Given the description of an element on the screen output the (x, y) to click on. 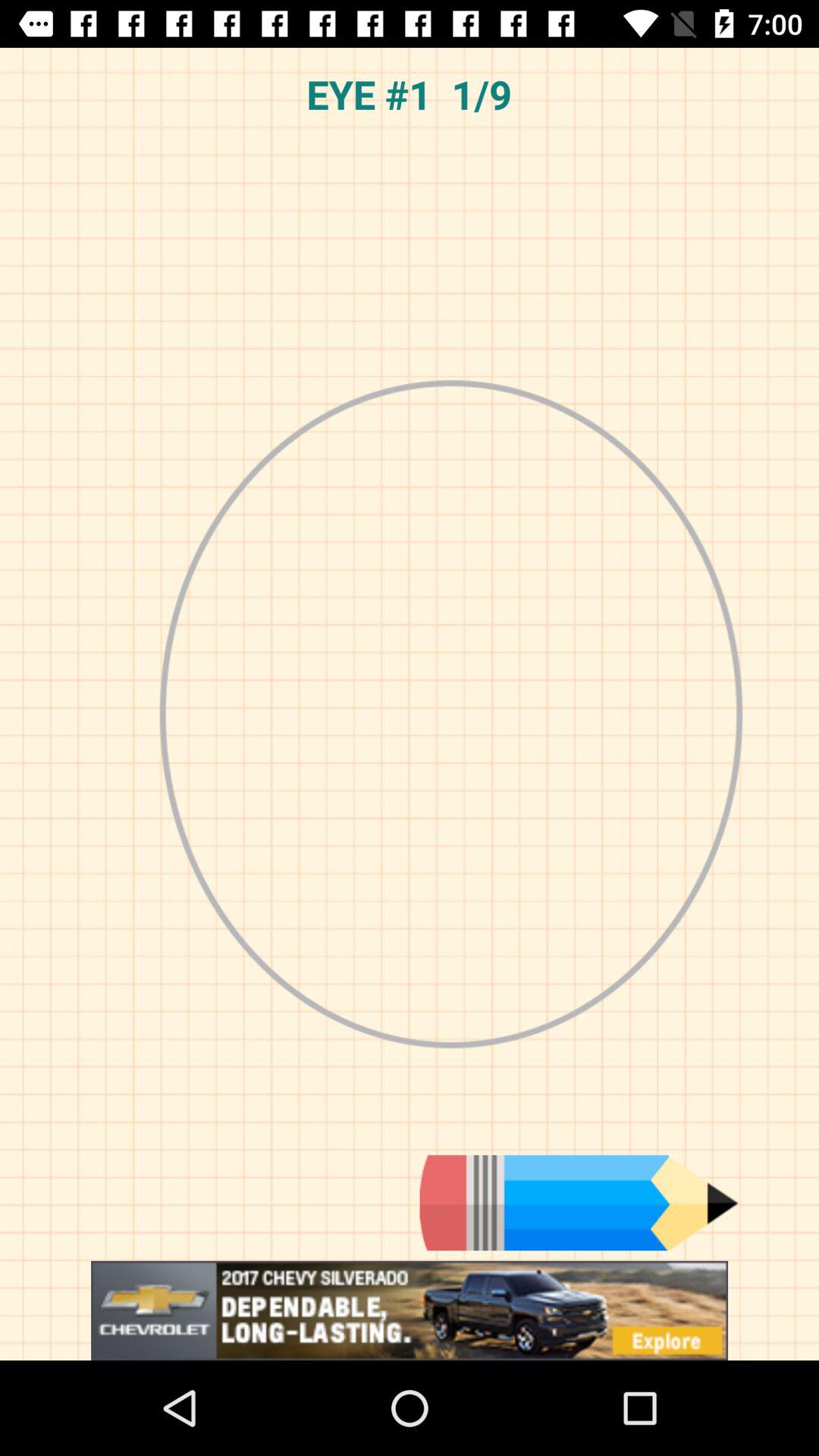
access pencil tool (578, 1202)
